Given the description of an element on the screen output the (x, y) to click on. 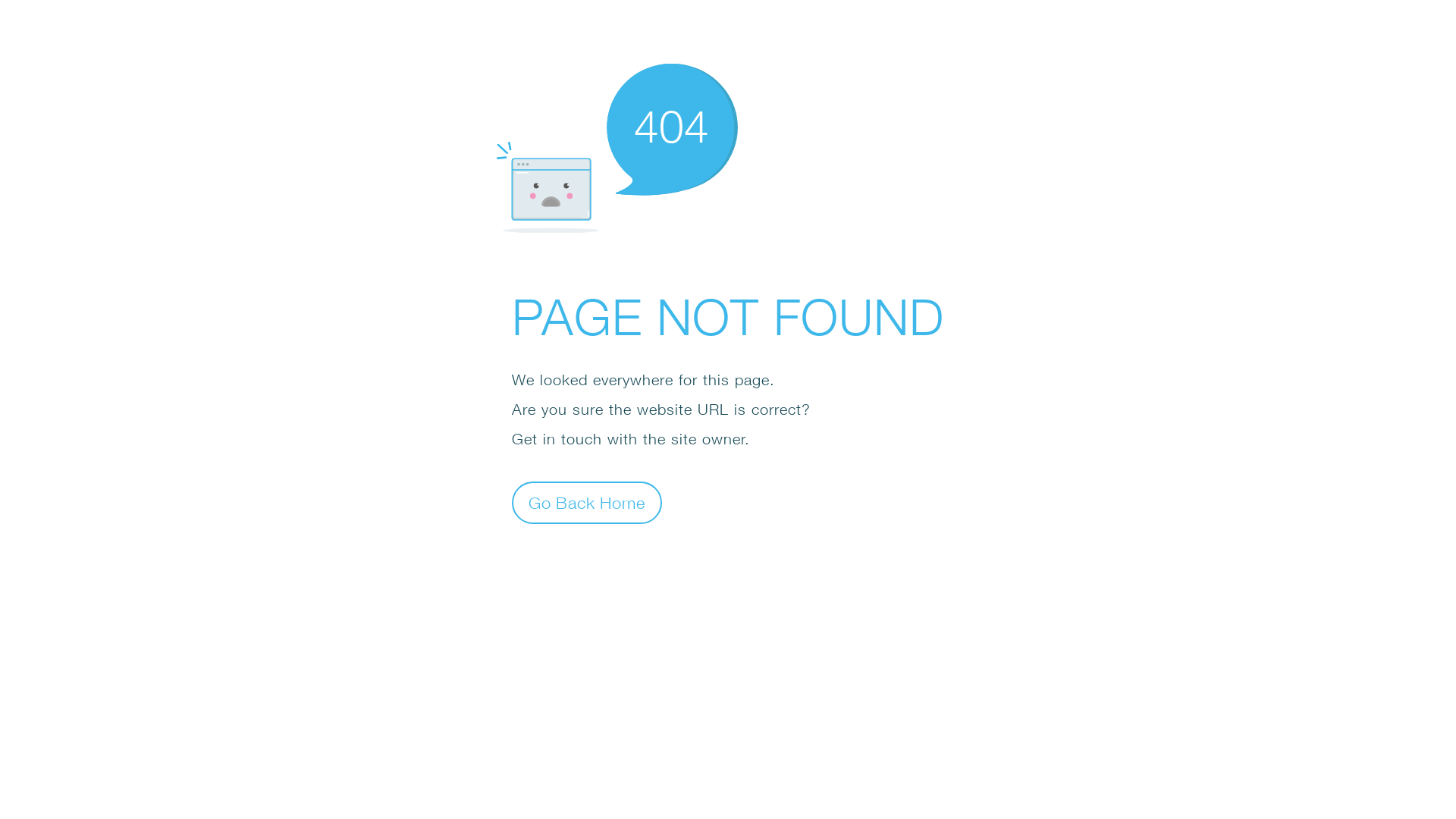
Go Back Home Element type: text (586, 502)
